Given the description of an element on the screen output the (x, y) to click on. 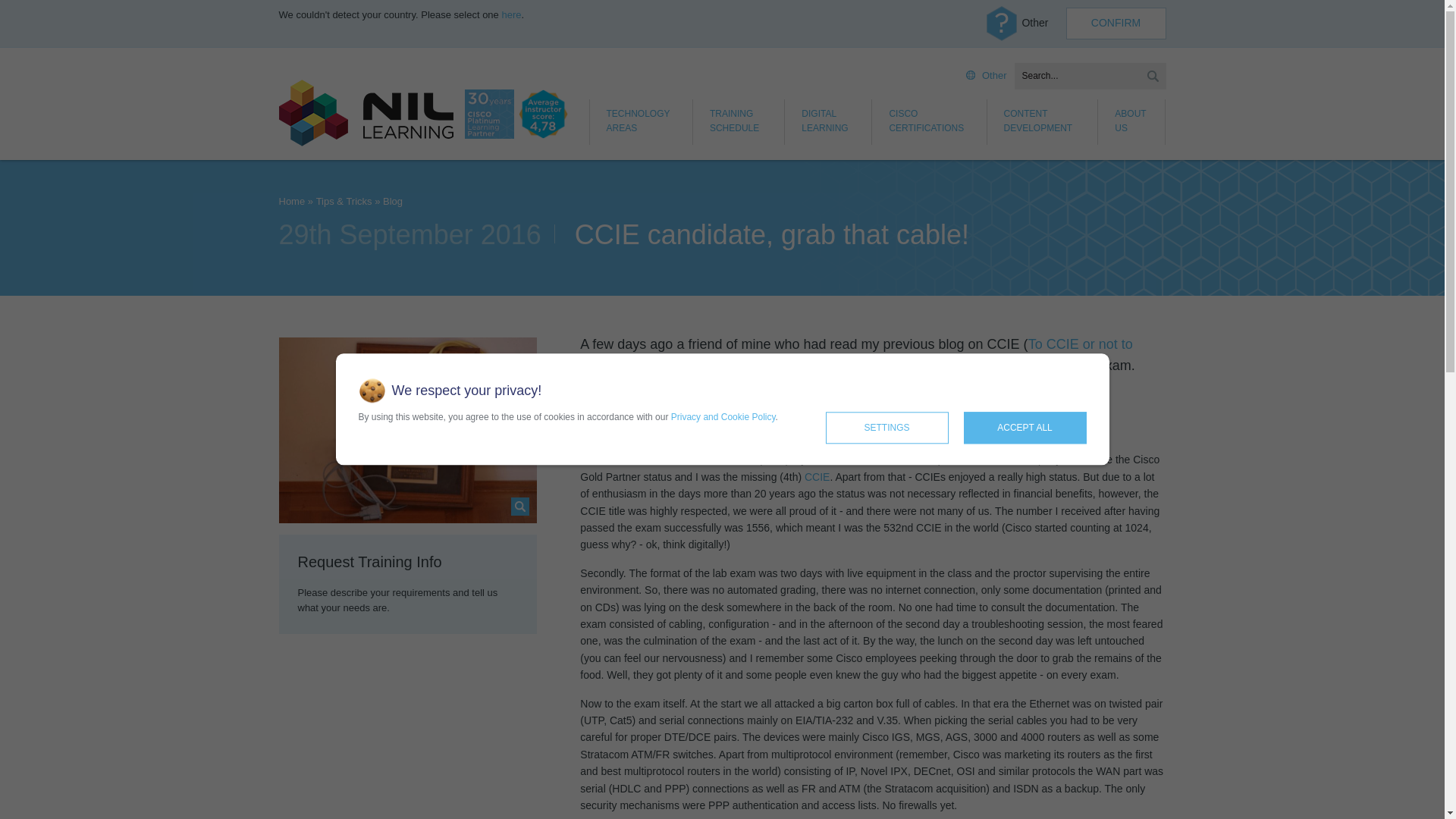
CONTENT DEVELOPMENT (1043, 121)
About NIL Learning (1131, 121)
Blog (392, 201)
CONFIRM (1115, 23)
Cisco Certifications (929, 121)
CISCO CERTIFICATIONS (929, 121)
Content Development (1043, 121)
here (510, 14)
TRAINING SCHEDULE (738, 121)
On-Demand IT Training (828, 121)
To CCIE or not to CCIE? (855, 354)
Technology Areas (641, 121)
DIGITAL LEARNING (828, 121)
ABOUT US (1131, 121)
